Given the description of an element on the screen output the (x, y) to click on. 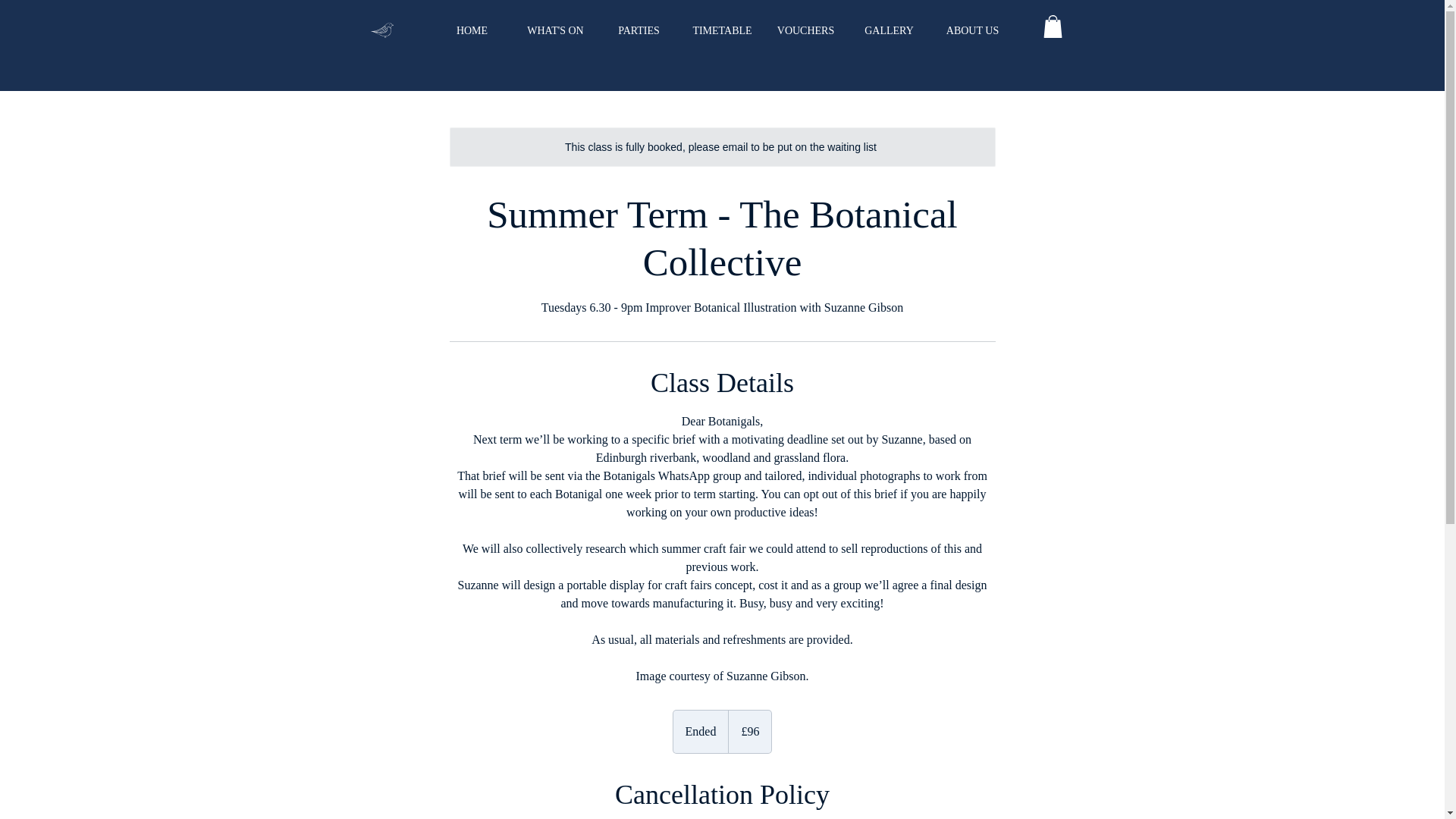
WHAT'S ON (554, 36)
VOUCHERS (805, 36)
TIMETABLE (722, 36)
ABOUT US (972, 36)
GALLERY (889, 36)
HOME (471, 36)
PARTIES (638, 36)
